Given the description of an element on the screen output the (x, y) to click on. 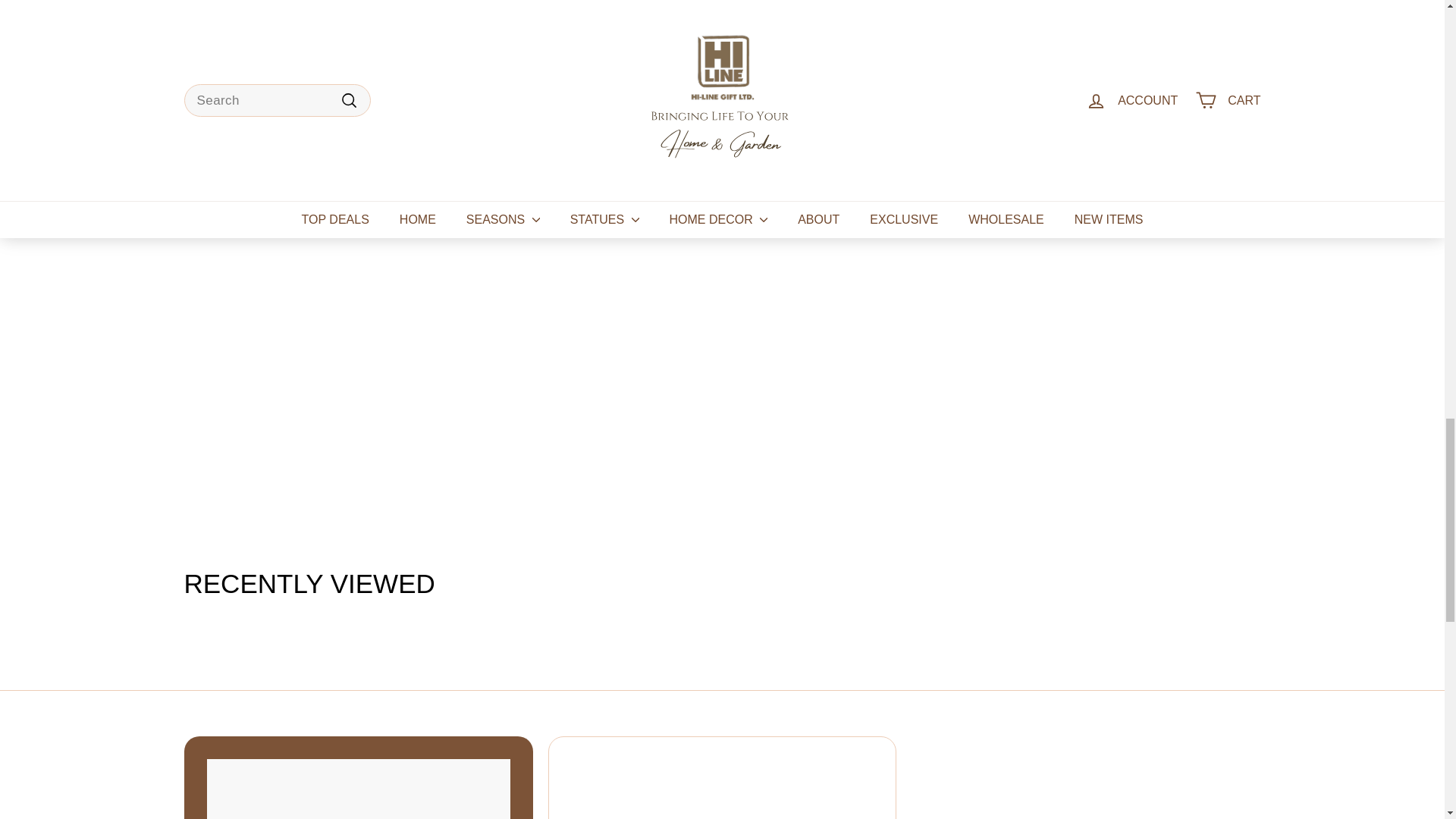
HI-LINE GIFT LTD. (468, 116)
